Given the description of an element on the screen output the (x, y) to click on. 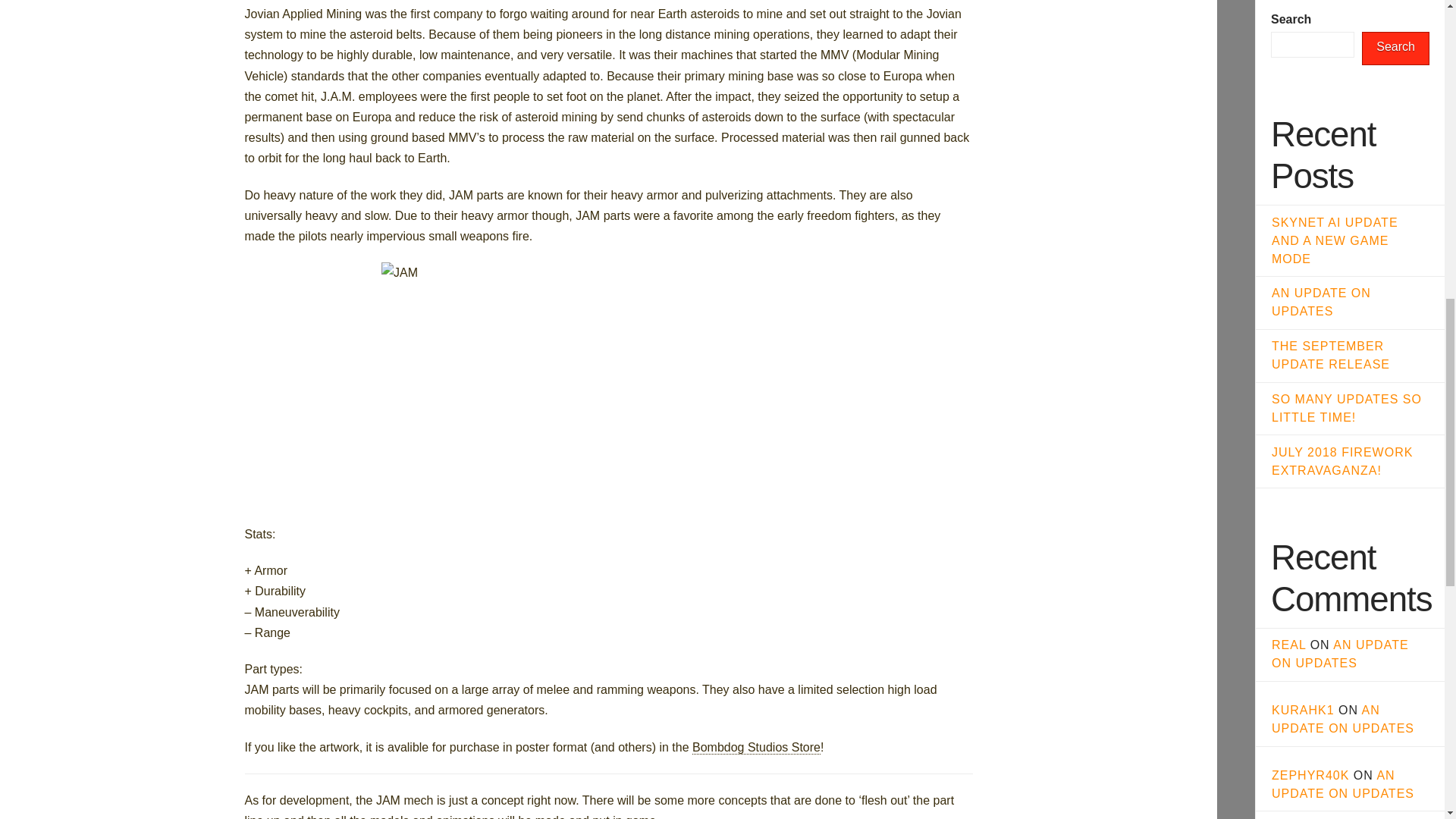
Bombdog Studios Store (757, 747)
